Given the description of an element on the screen output the (x, y) to click on. 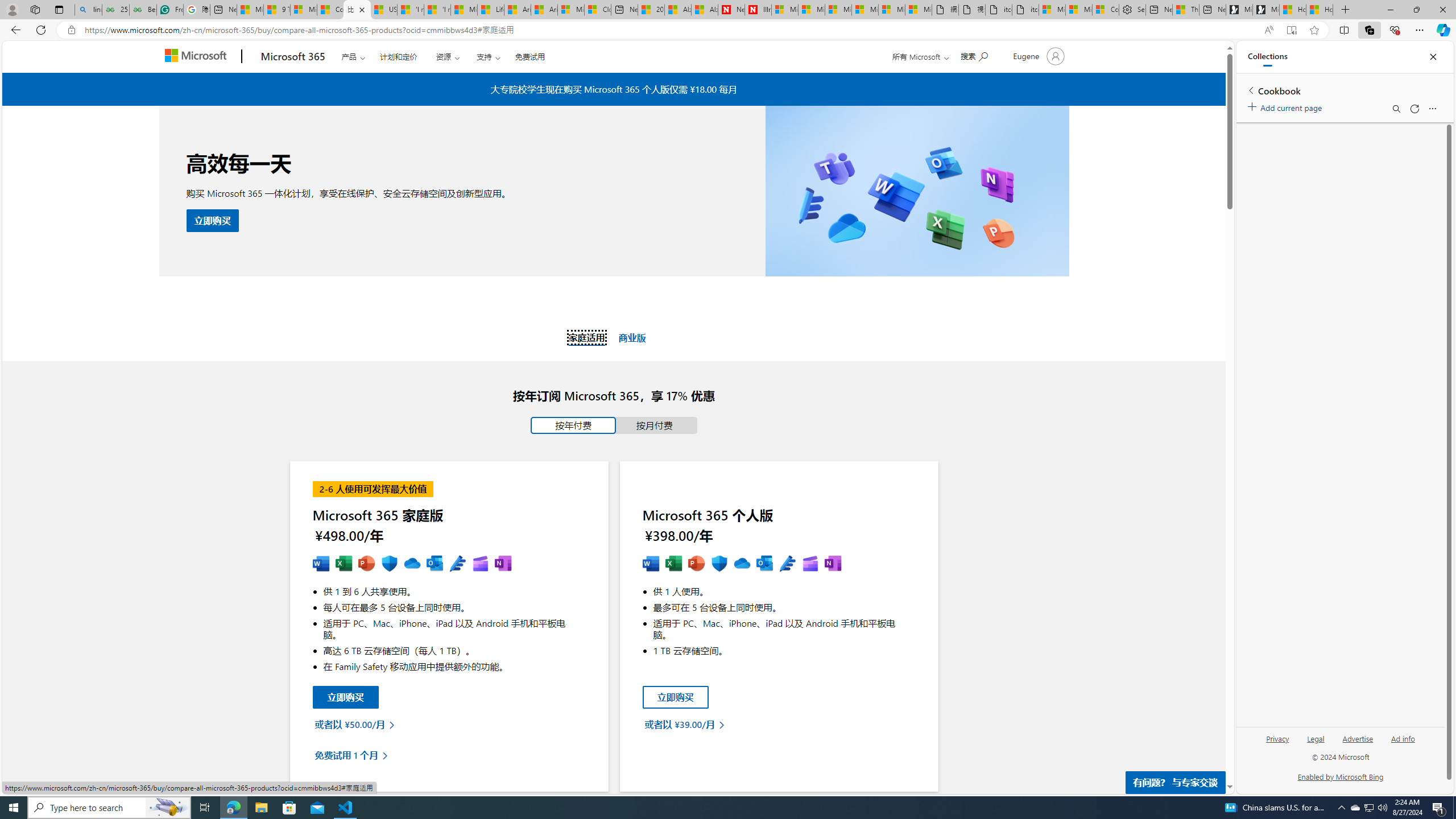
linux basic - Search (87, 9)
Cloud Computing Services | Microsoft Azure (597, 9)
MS Word (650, 563)
